Given the description of an element on the screen output the (x, y) to click on. 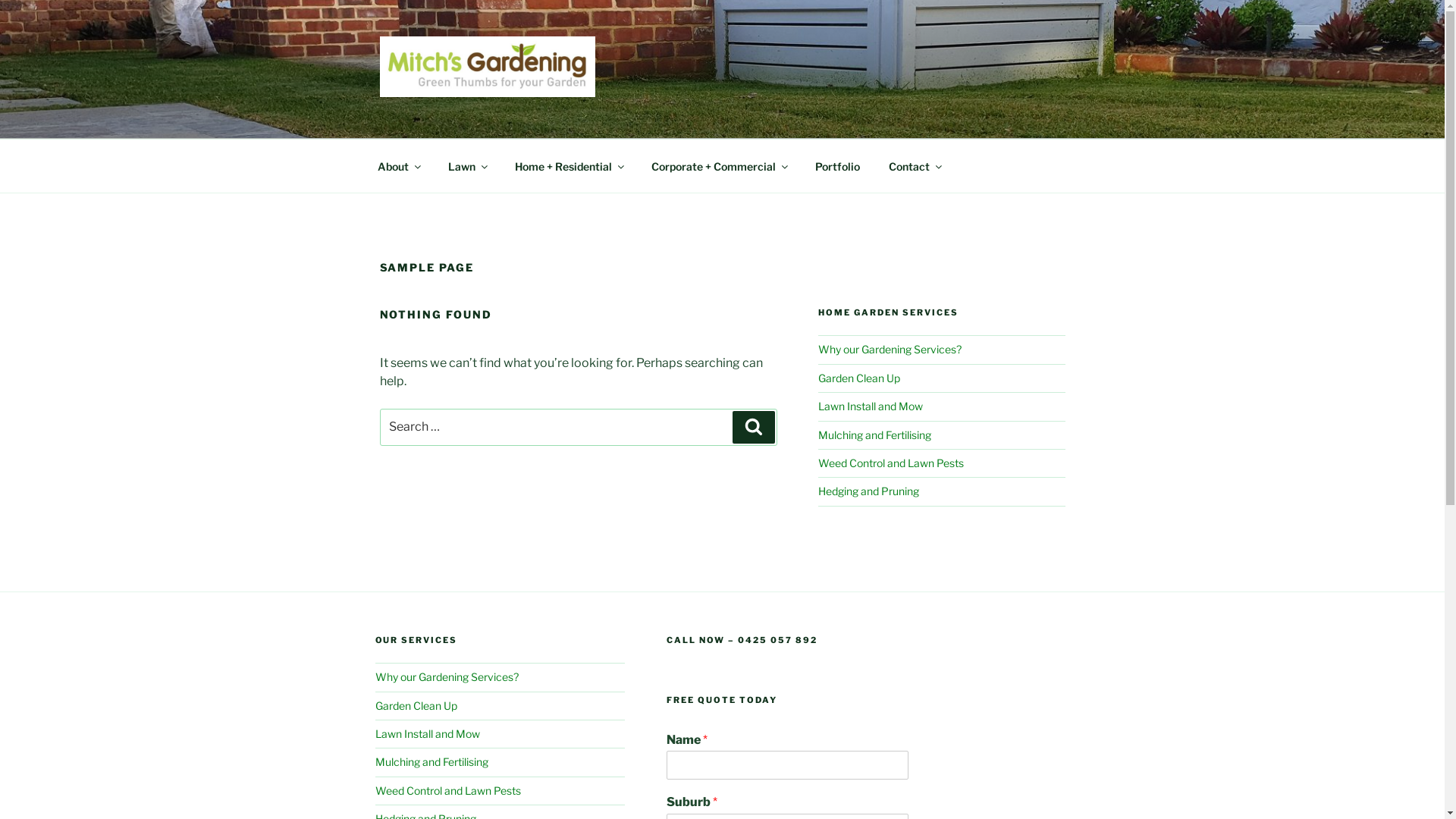
Mulching and Fertilising Element type: text (430, 761)
About Element type: text (398, 165)
Garden Clean Up Element type: text (859, 377)
Mulching and Fertilising Element type: text (874, 434)
Contact Element type: text (914, 165)
Lawn Element type: text (467, 165)
Why our Gardening Services? Element type: text (889, 348)
Garden Clean Up Element type: text (415, 705)
Weed Control and Lawn Pests Element type: text (447, 790)
Search Element type: text (753, 426)
Lawn Install and Mow Element type: text (870, 405)
Corporate + Commercial Element type: text (719, 165)
Lawn Install and Mow Element type: text (426, 733)
Portfolio Element type: text (837, 165)
Weed Control and Lawn Pests Element type: text (890, 462)
Home + Residential Element type: text (569, 165)
Hedging and Pruning Element type: text (868, 490)
Why our Gardening Services? Element type: text (445, 676)
MITCHS GARDENING: PERTH GARDEN MAINTENANCE COMPANY Element type: text (673, 135)
